Given the description of an element on the screen output the (x, y) to click on. 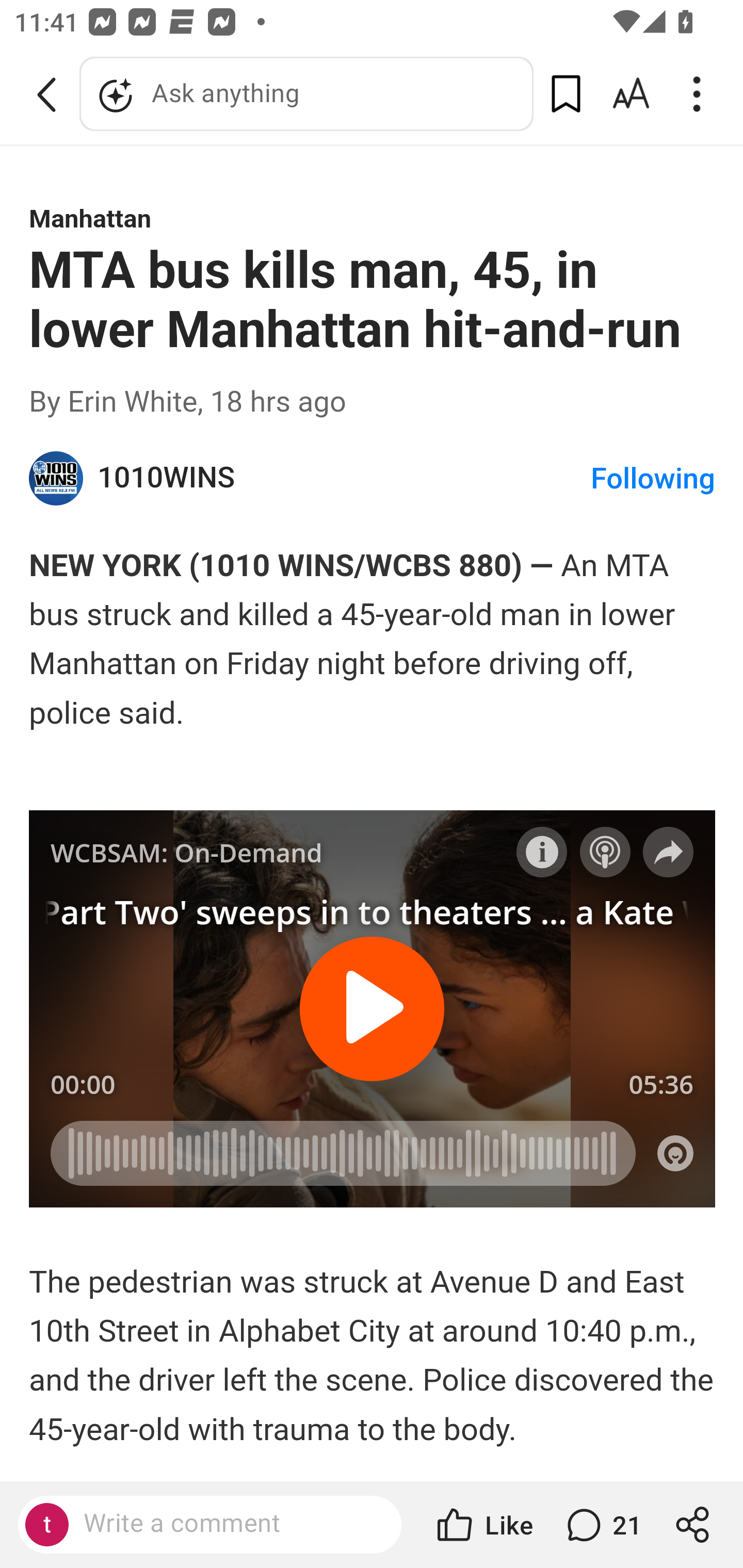
Ask anything (306, 93)
1010WINS (56, 479)
1010WINS (344, 477)
Following (652, 478)
Info (542, 851)
Follow (605, 851)
Share (668, 851)
Play (372, 1007)
Powered by Omny Studio (675, 1152)
Like (483, 1524)
21 (601, 1524)
Write a comment (226, 1523)
